Given the description of an element on the screen output the (x, y) to click on. 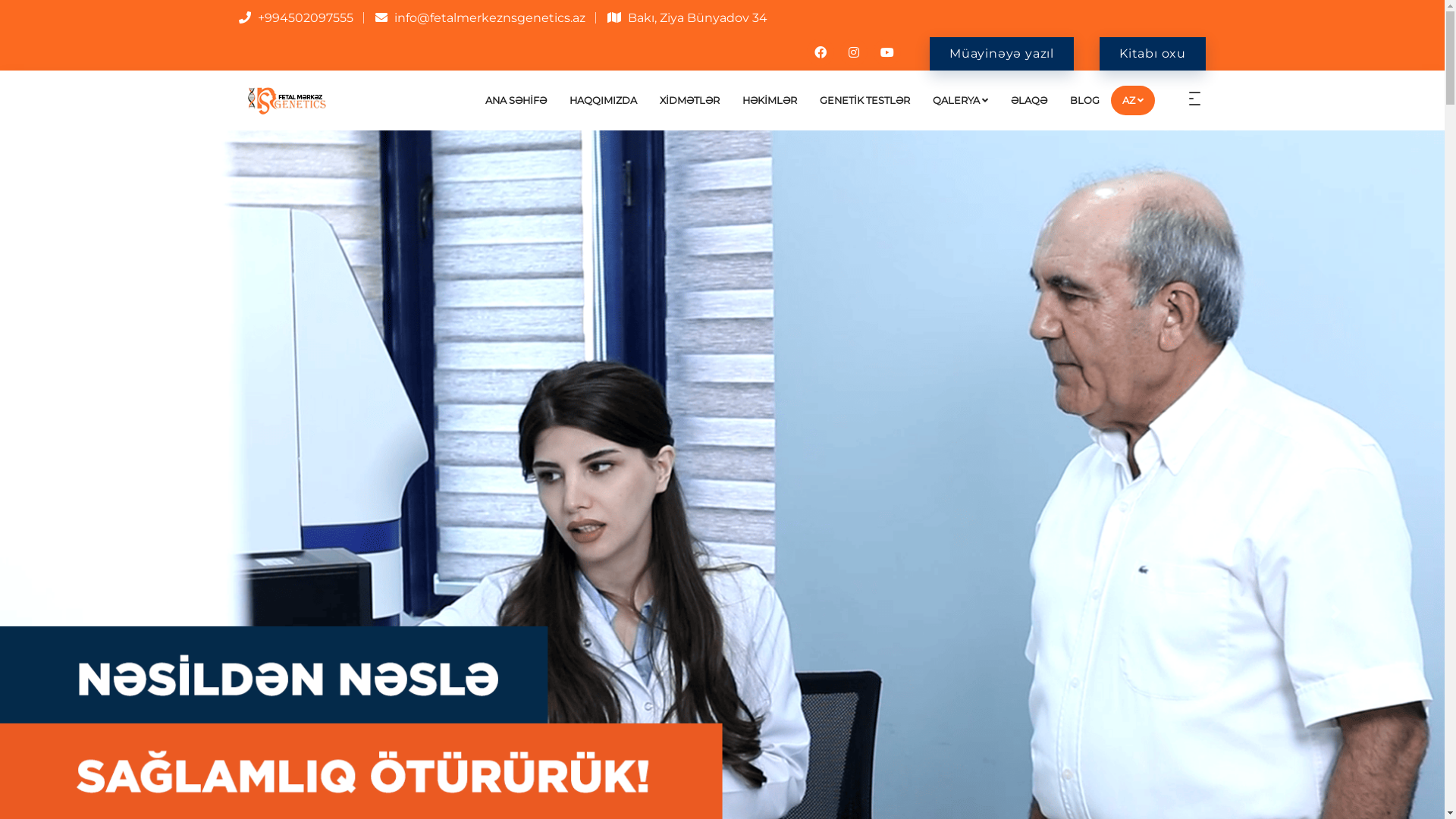
BLOG Element type: text (1084, 100)
HAQQIMIZDA Element type: text (603, 100)
AZ Element type: text (1132, 100)
QALERYA Element type: text (960, 100)
